Given the description of an element on the screen output the (x, y) to click on. 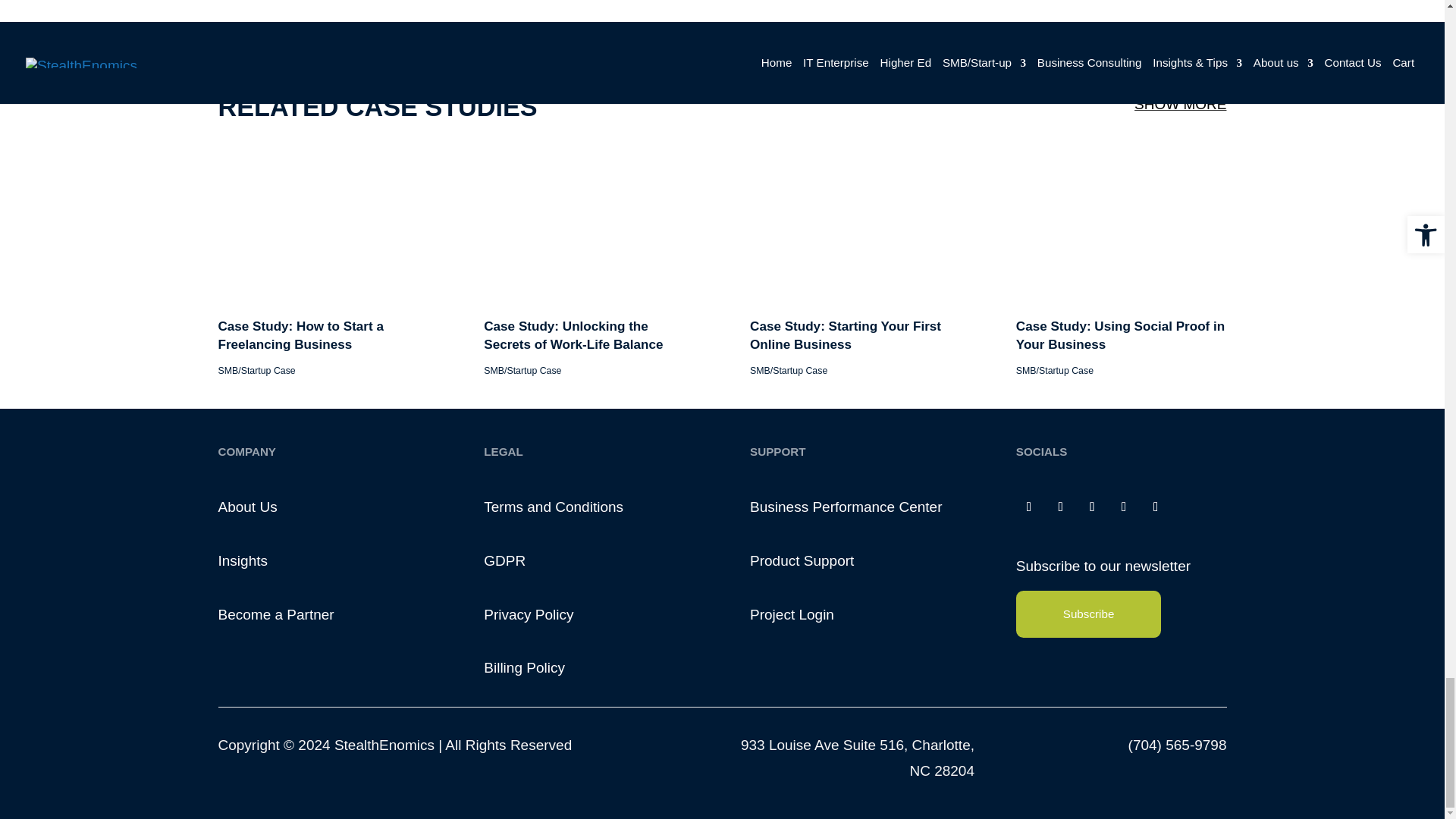
Case Study: Unlocking the Secrets of Work-Life Balance (603, 573)
Case Study: How to Start a Freelancing Business (340, 468)
Case Study: Using Social Proof in Your Business (1179, 468)
Case Study: How to Start a Freelancing Business (317, 573)
Case Study: Starting Your First Online Business (889, 573)
Case Study: Starting Your First Online Business (899, 468)
Case Study: Unlocking the Secrets of Work-Life Balance (619, 468)
Case Study: Using Social Proof in Your Business (1178, 573)
